Given the description of an element on the screen output the (x, y) to click on. 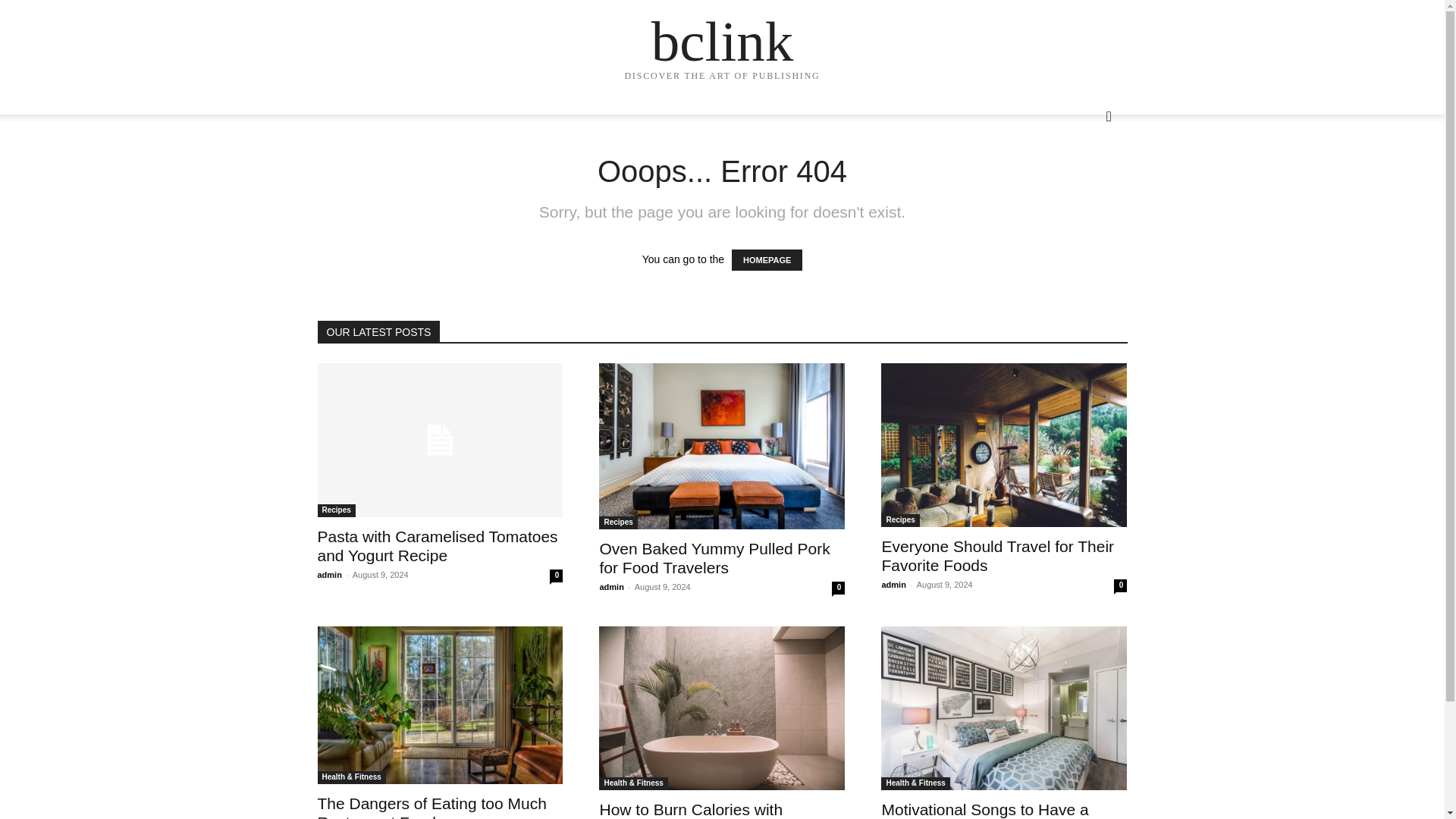
Pasta with Caramelised Tomatoes and Yogurt Recipe (439, 439)
Everyone Should Travel for Their Favorite Foods (996, 555)
0 (837, 587)
Everyone Should Travel for Their Favorite Foods (996, 555)
The Dangers of Eating too Much Restaurant Food (431, 806)
Recipes (617, 522)
How to Burn Calories with Pleasant Activities (690, 809)
The Dangers of Eating too Much Restaurant Food (431, 806)
Oven Baked Yummy Pulled Pork for Food Travelers (721, 446)
admin (610, 586)
